Given the description of an element on the screen output the (x, y) to click on. 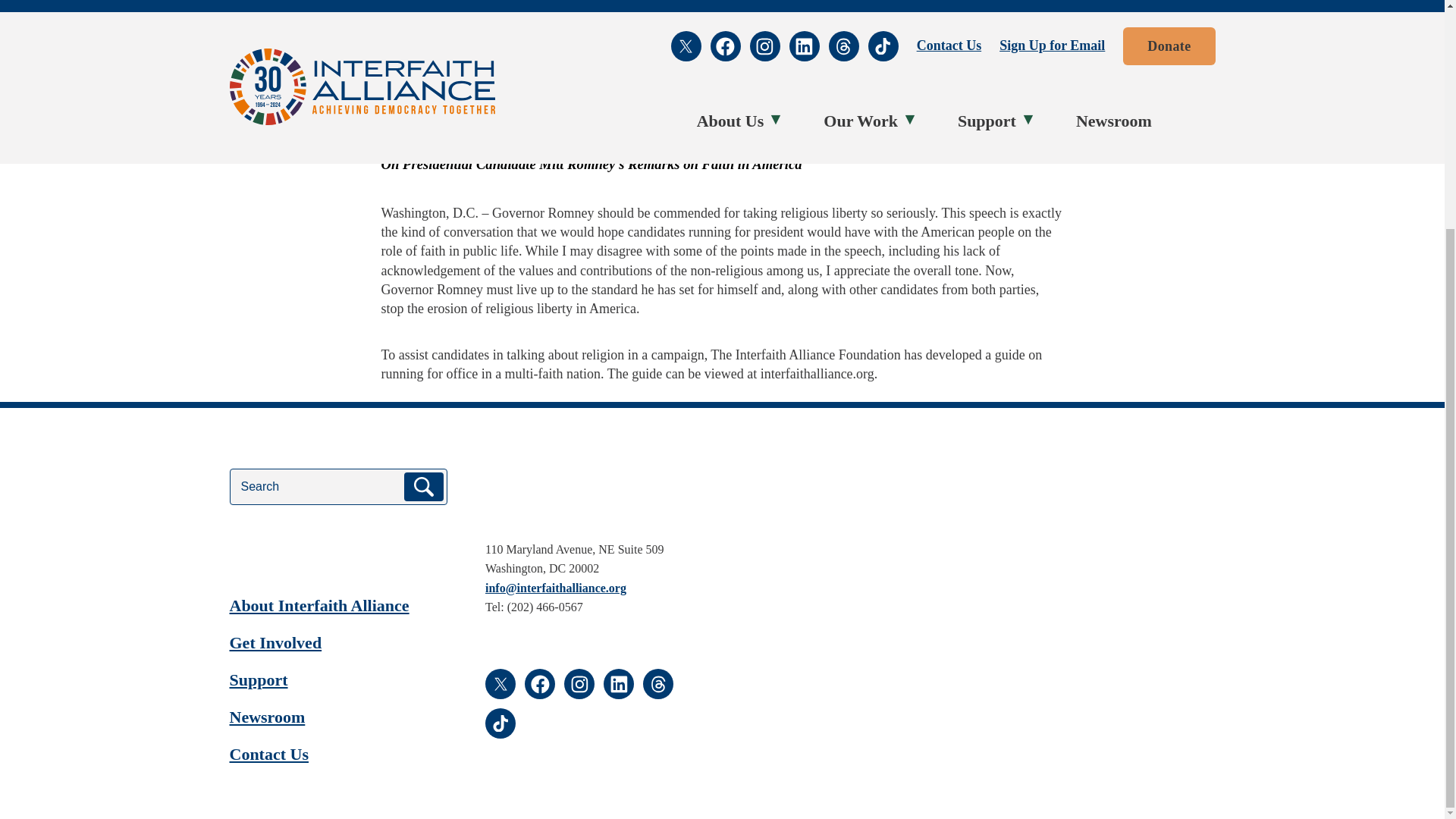
Twitter (428, 70)
Copy Link (460, 70)
Facebook (396, 70)
